Given the description of an element on the screen output the (x, y) to click on. 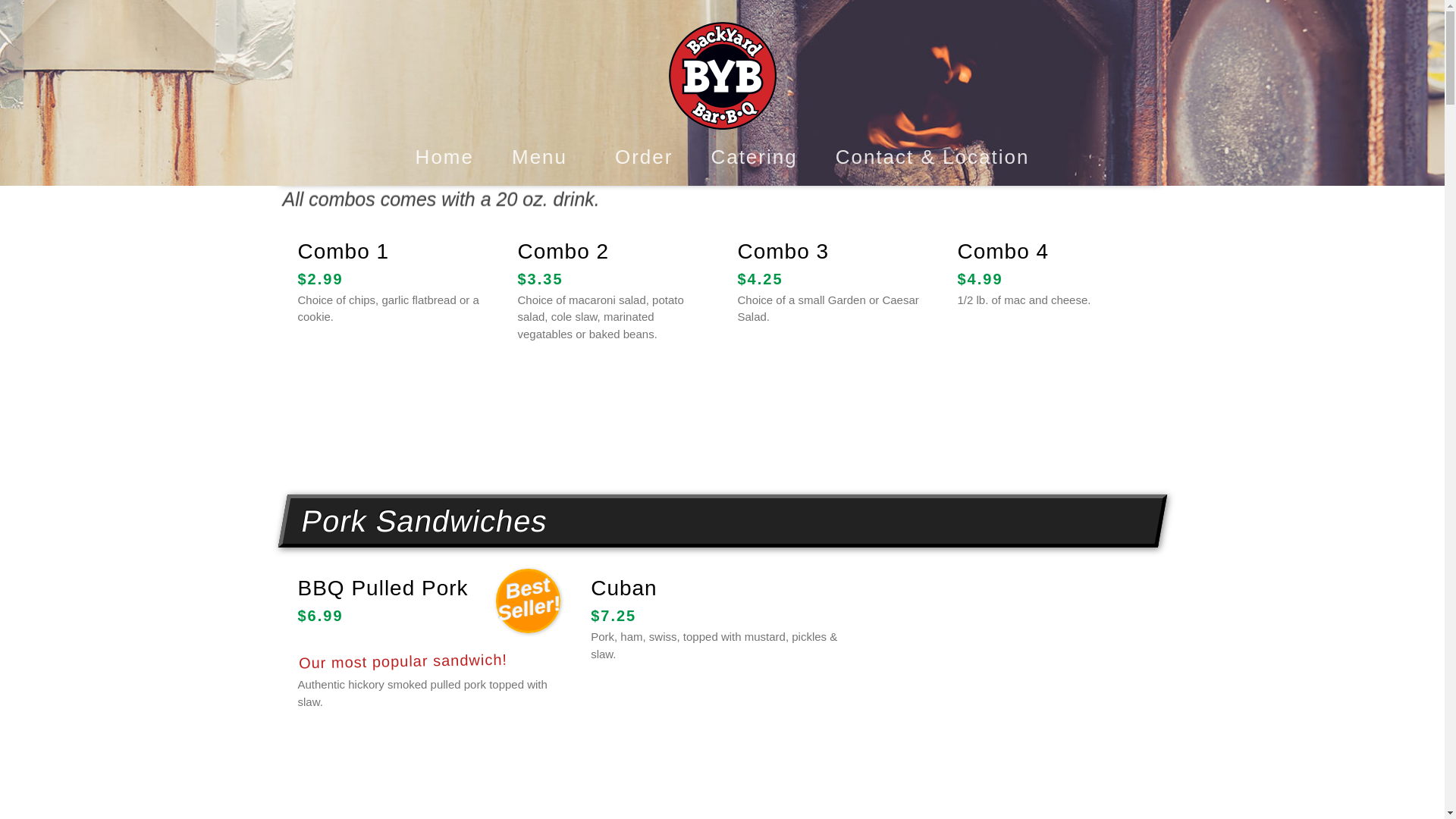
Home (444, 157)
Menu (544, 157)
